Given the description of an element on the screen output the (x, y) to click on. 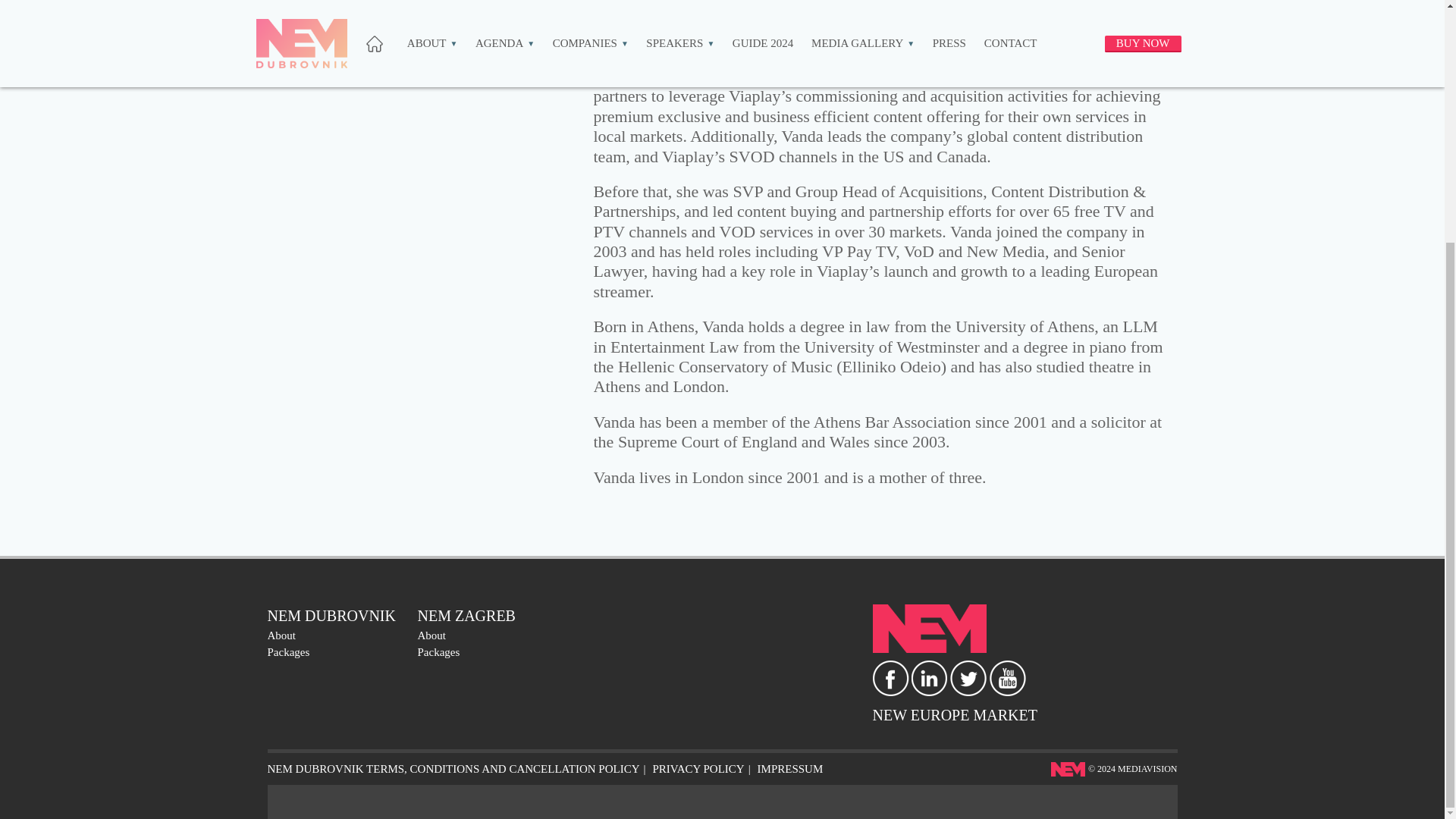
IMPRESSUM (790, 768)
Packages (438, 652)
PRIVACY POLICY (698, 768)
About (430, 635)
About (280, 635)
Packages (287, 652)
NEM DUBROVNIK TERMS, CONDITIONS AND CANCELLATION POLICY (452, 768)
Vanda Rapti (425, 30)
